Given the description of an element on the screen output the (x, y) to click on. 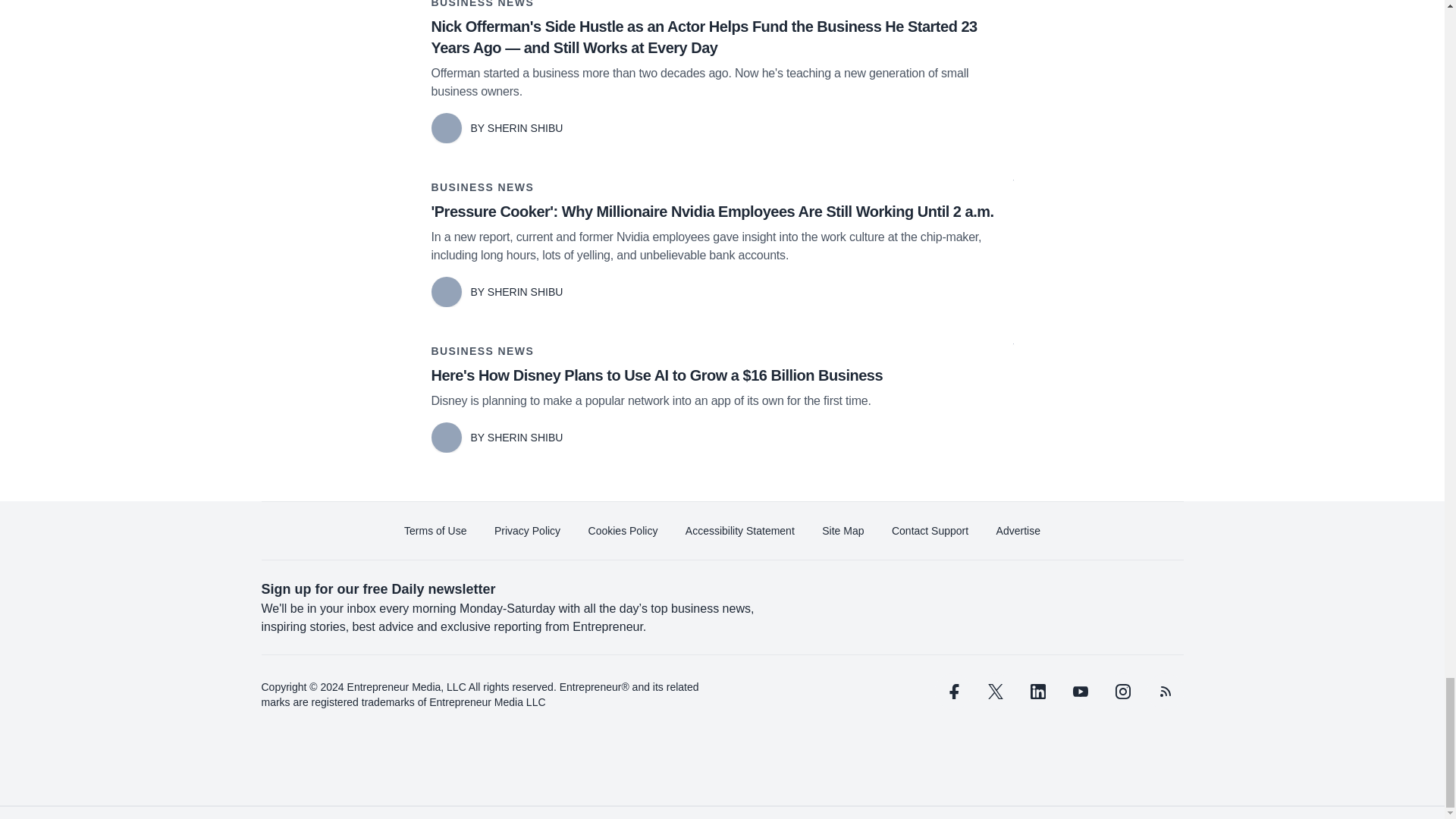
linkedin (1037, 691)
facebook (952, 691)
youtube (1079, 691)
rss (1164, 691)
twitter (994, 691)
instagram (1121, 691)
